Given the description of an element on the screen output the (x, y) to click on. 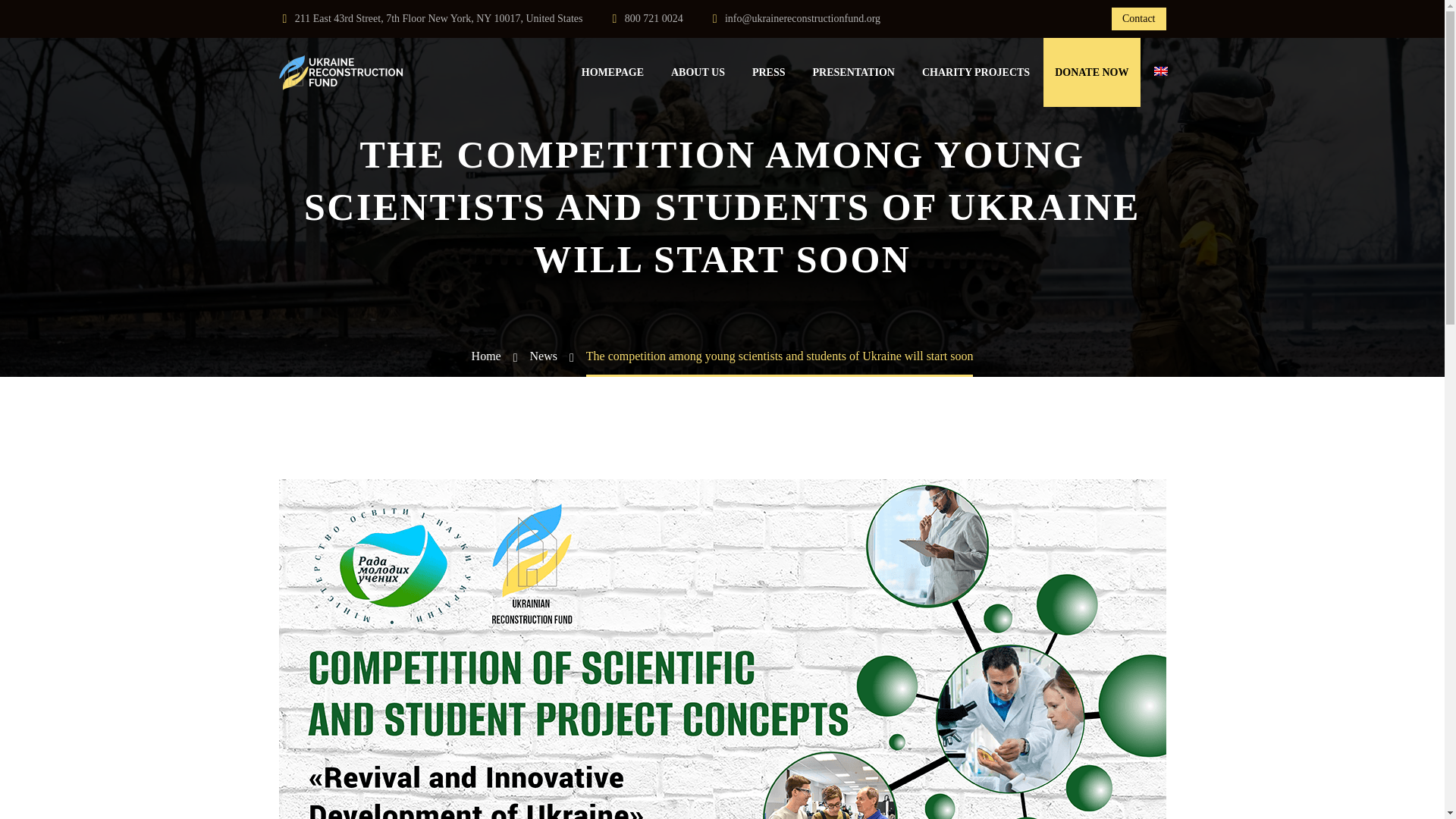
800 721 0024 (653, 18)
DONATE NOW (1091, 72)
HOMEPAGE (612, 72)
PRESENTATION (853, 72)
ABOUT US (697, 72)
Home (485, 355)
CHARITY PROJECTS (976, 72)
News (543, 355)
PRESS (768, 72)
Contact (1139, 18)
